Given the description of an element on the screen output the (x, y) to click on. 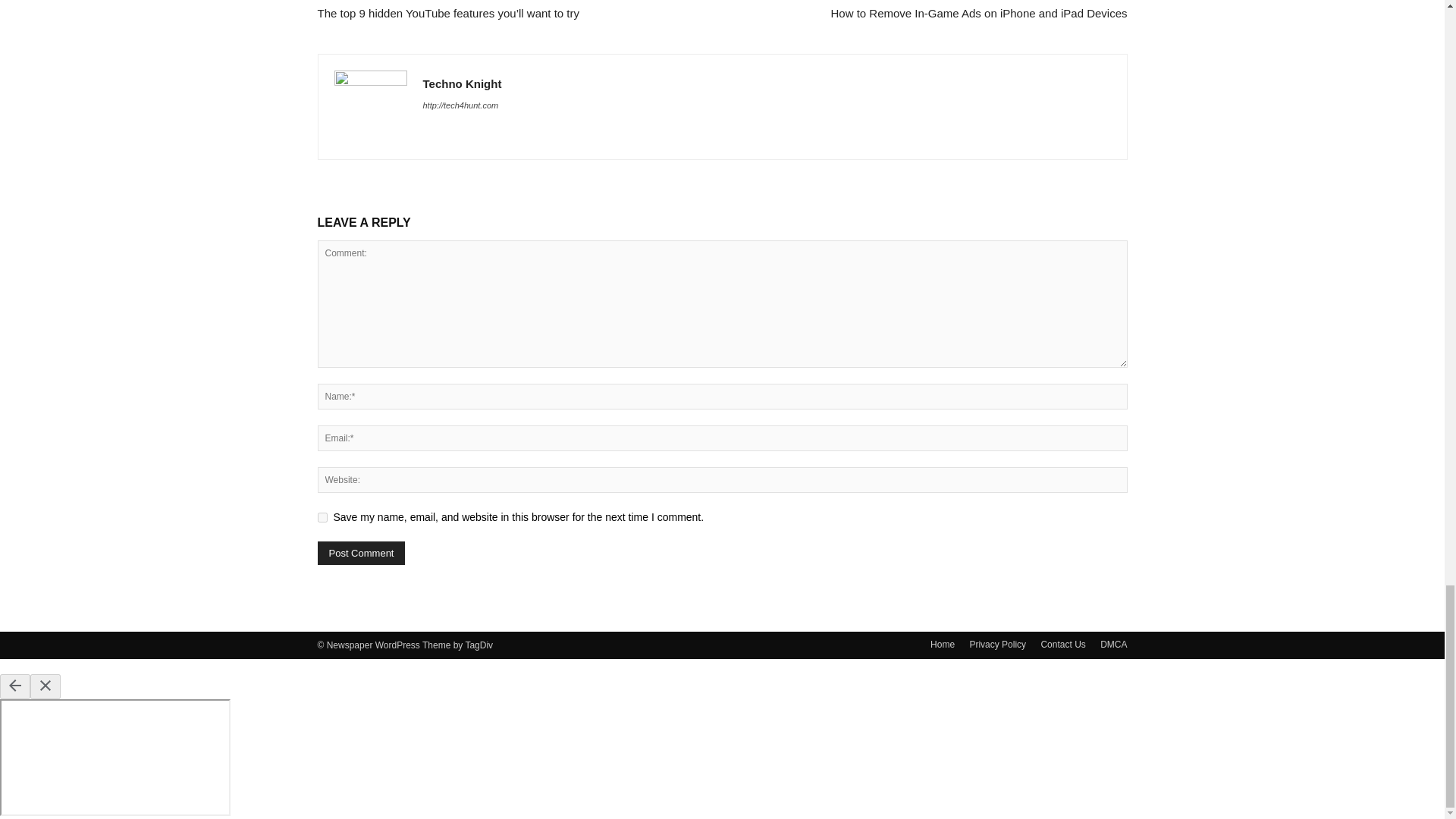
yes (321, 517)
Post Comment (360, 553)
